Given the description of an element on the screen output the (x, y) to click on. 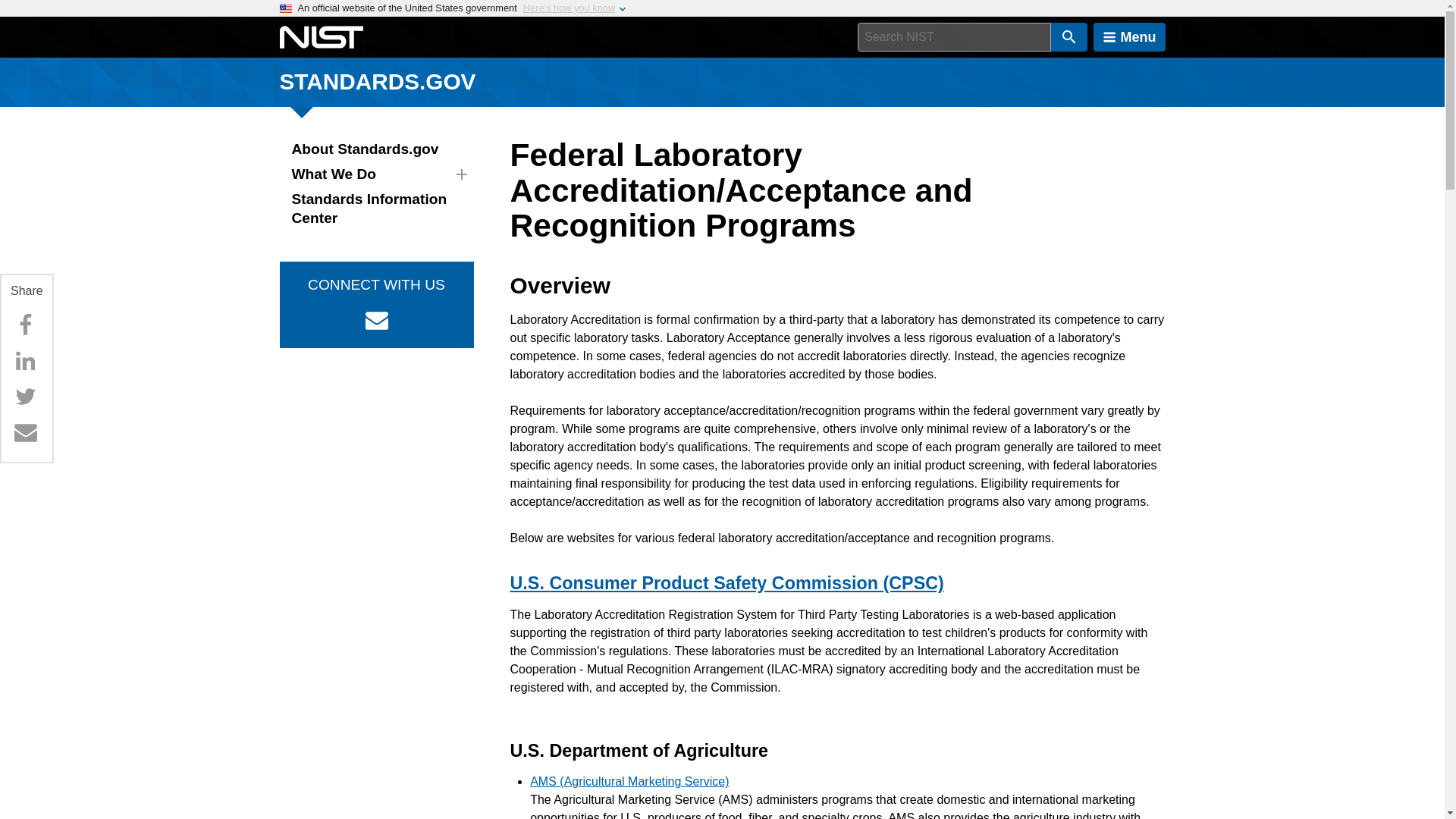
What We Do (376, 174)
Email (25, 431)
Twitter (25, 396)
STANDARDS.GOV (377, 81)
Facebook (25, 325)
About Standards.gov (376, 149)
Linkedin (25, 360)
Standards Information Center (376, 208)
GovDelivery (376, 319)
National Institute of Standards and Technology (320, 36)
